Given the description of an element on the screen output the (x, y) to click on. 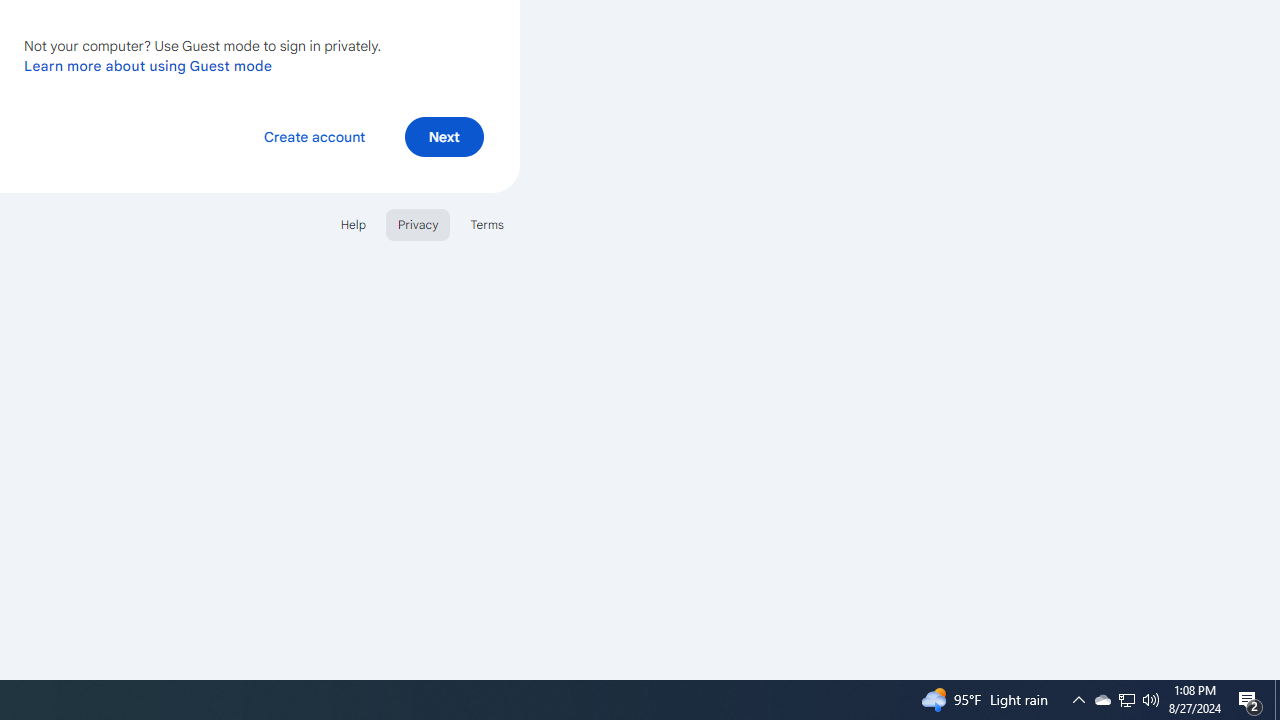
Create account (314, 135)
Learn more about using Guest mode (148, 65)
